Given the description of an element on the screen output the (x, y) to click on. 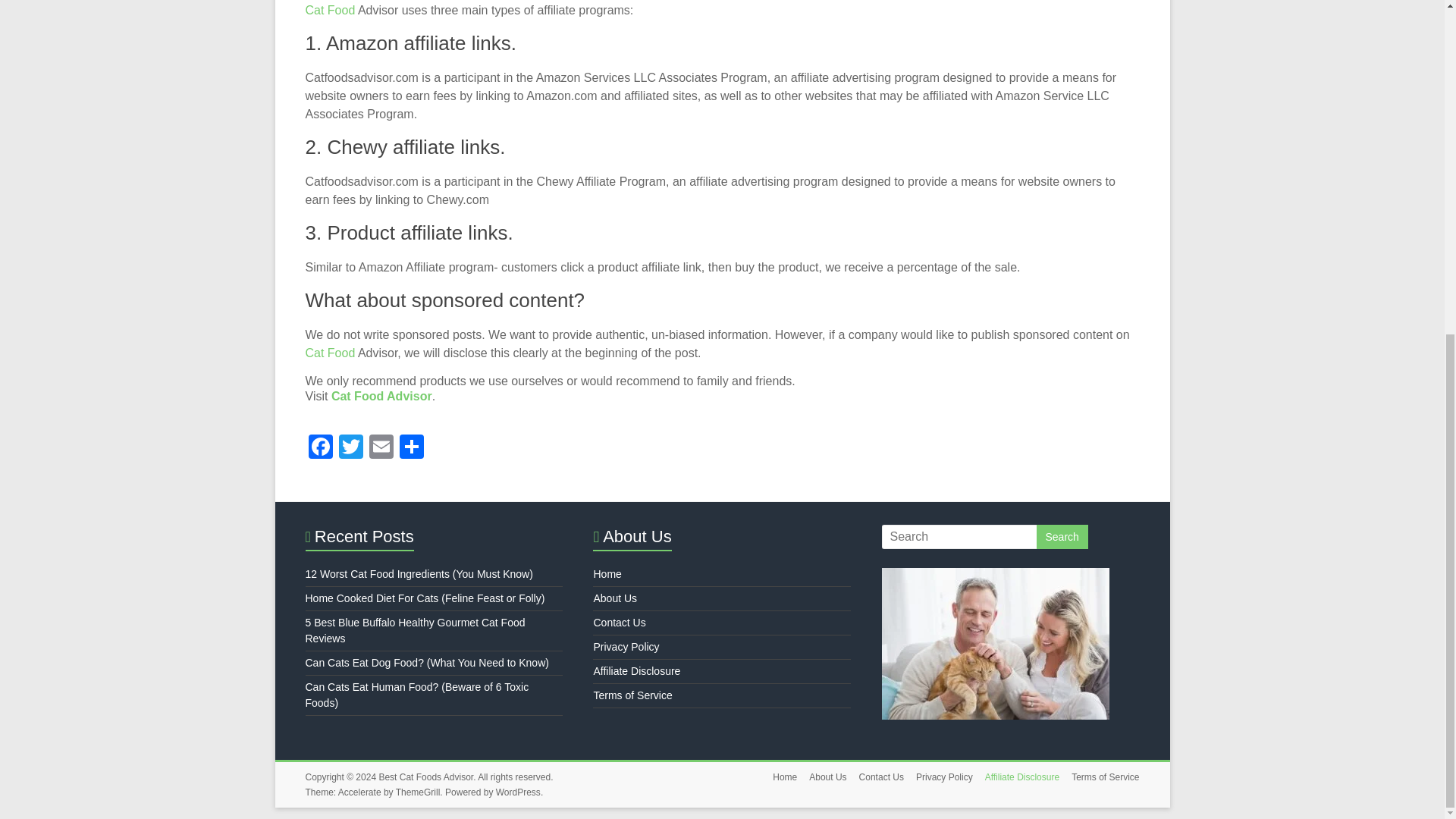
Email (380, 448)
WordPress (518, 792)
Search (1061, 536)
Best Cat Foods Advisor (425, 777)
Twitter (349, 448)
Facebook (319, 448)
Accelerate (359, 792)
